Given the description of an element on the screen output the (x, y) to click on. 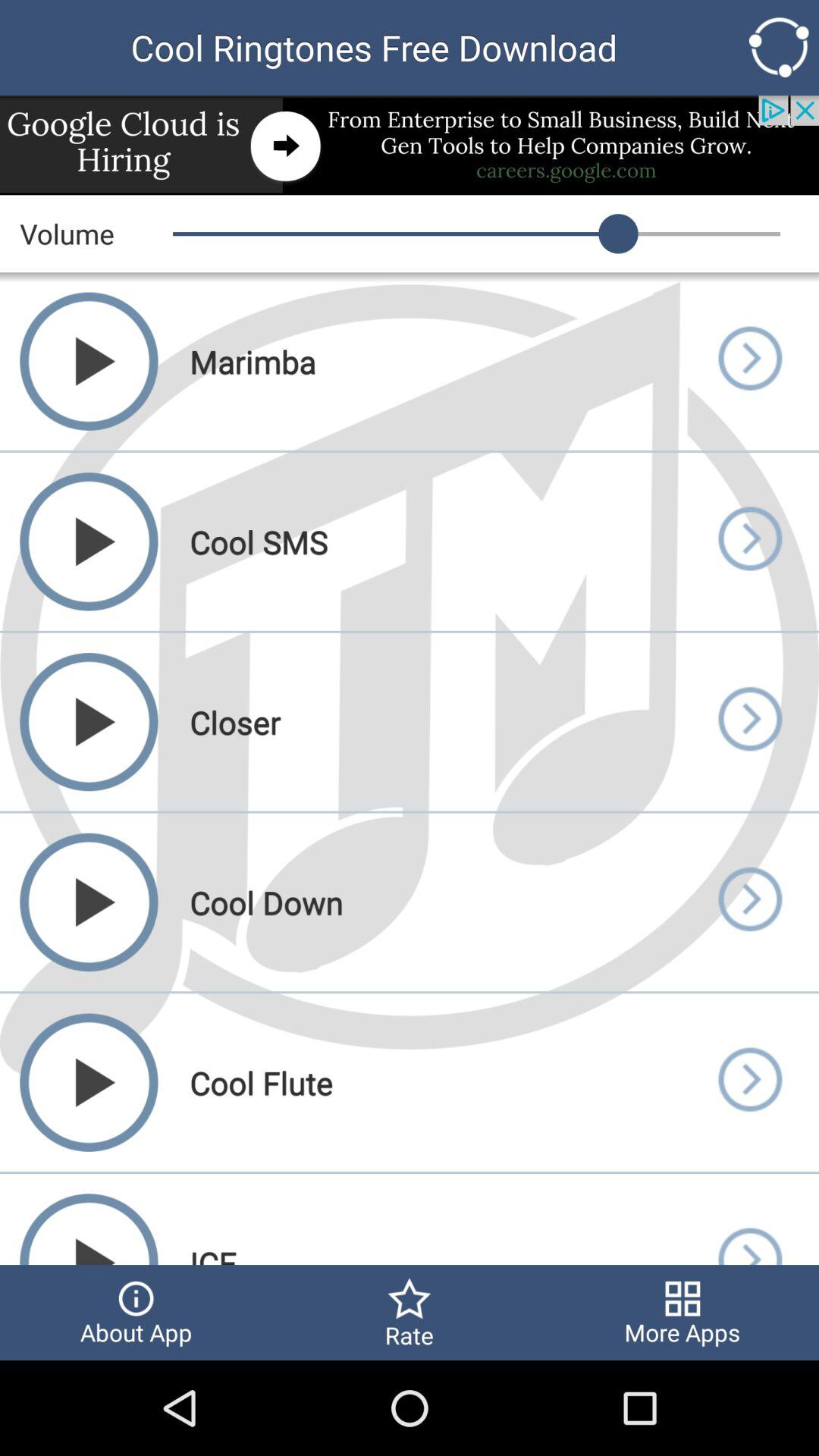
opens up selected page (749, 541)
